Given the description of an element on the screen output the (x, y) to click on. 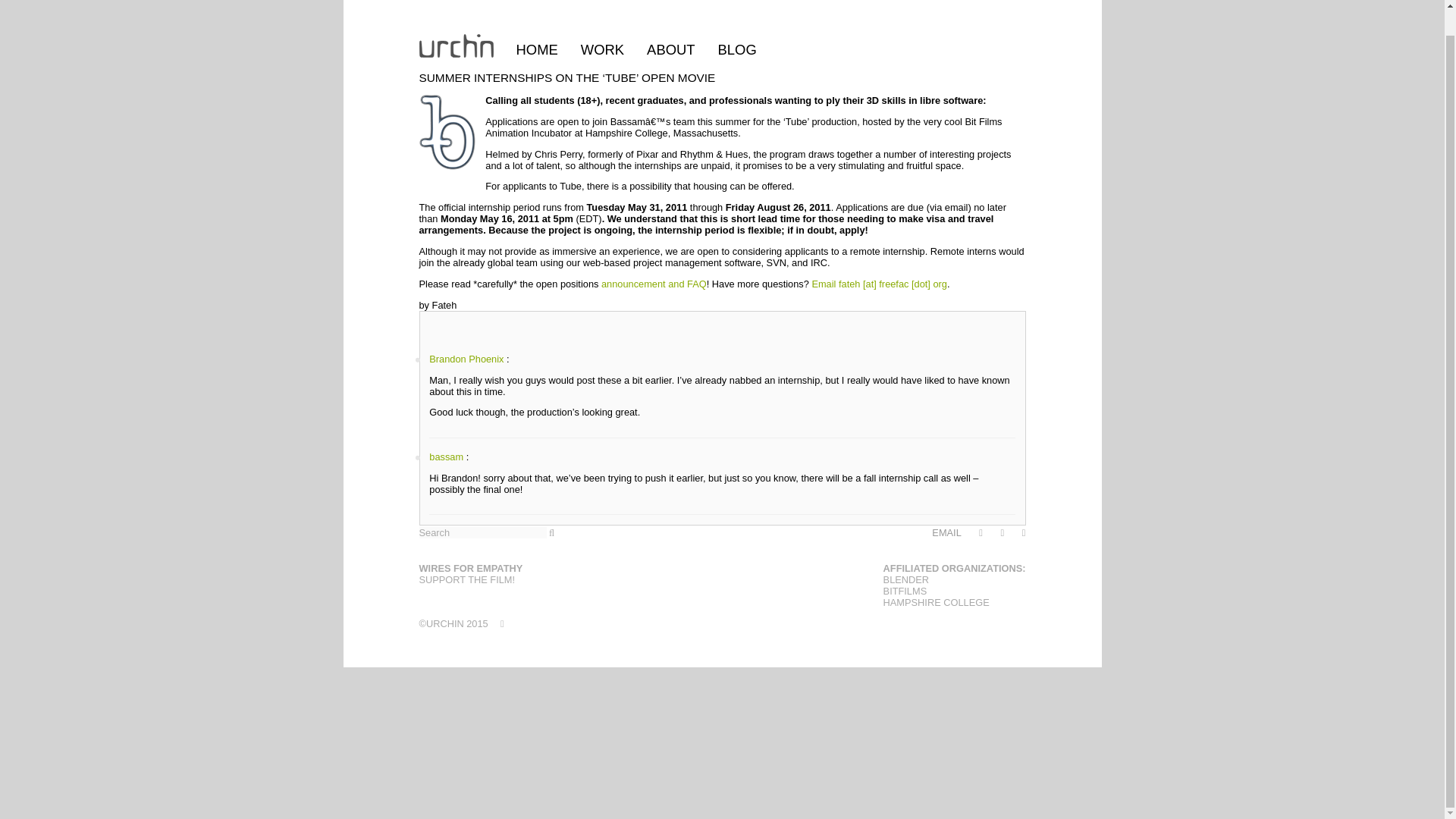
EMAIL (945, 532)
Search (482, 532)
announcement and FAQ (653, 283)
HOME (536, 23)
BITFILMS (905, 591)
ABOUT (670, 23)
bassam (446, 456)
BLENDER (905, 579)
WORK (602, 23)
BLOG (737, 23)
SUPPORT THE FILM! (467, 579)
Brandon Phoenix (466, 358)
HAMPSHIRE COLLEGE (936, 602)
WIRES FOR EMPATHY (470, 568)
